Given the description of an element on the screen output the (x, y) to click on. 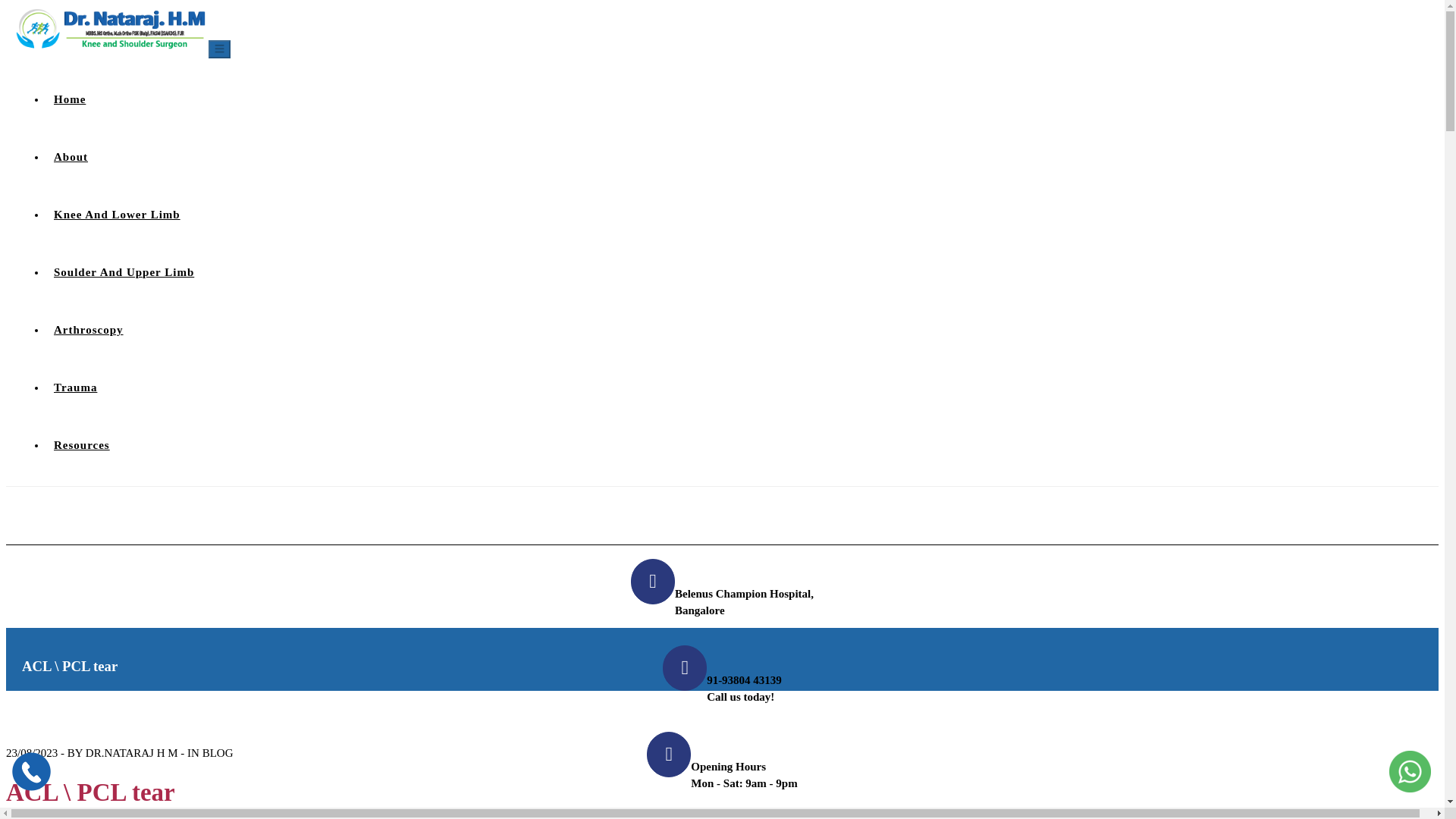
Knee And Lower Limb (113, 214)
About (66, 156)
Home (65, 99)
Soulder And Upper Limb (119, 272)
